Given the description of an element on the screen output the (x, y) to click on. 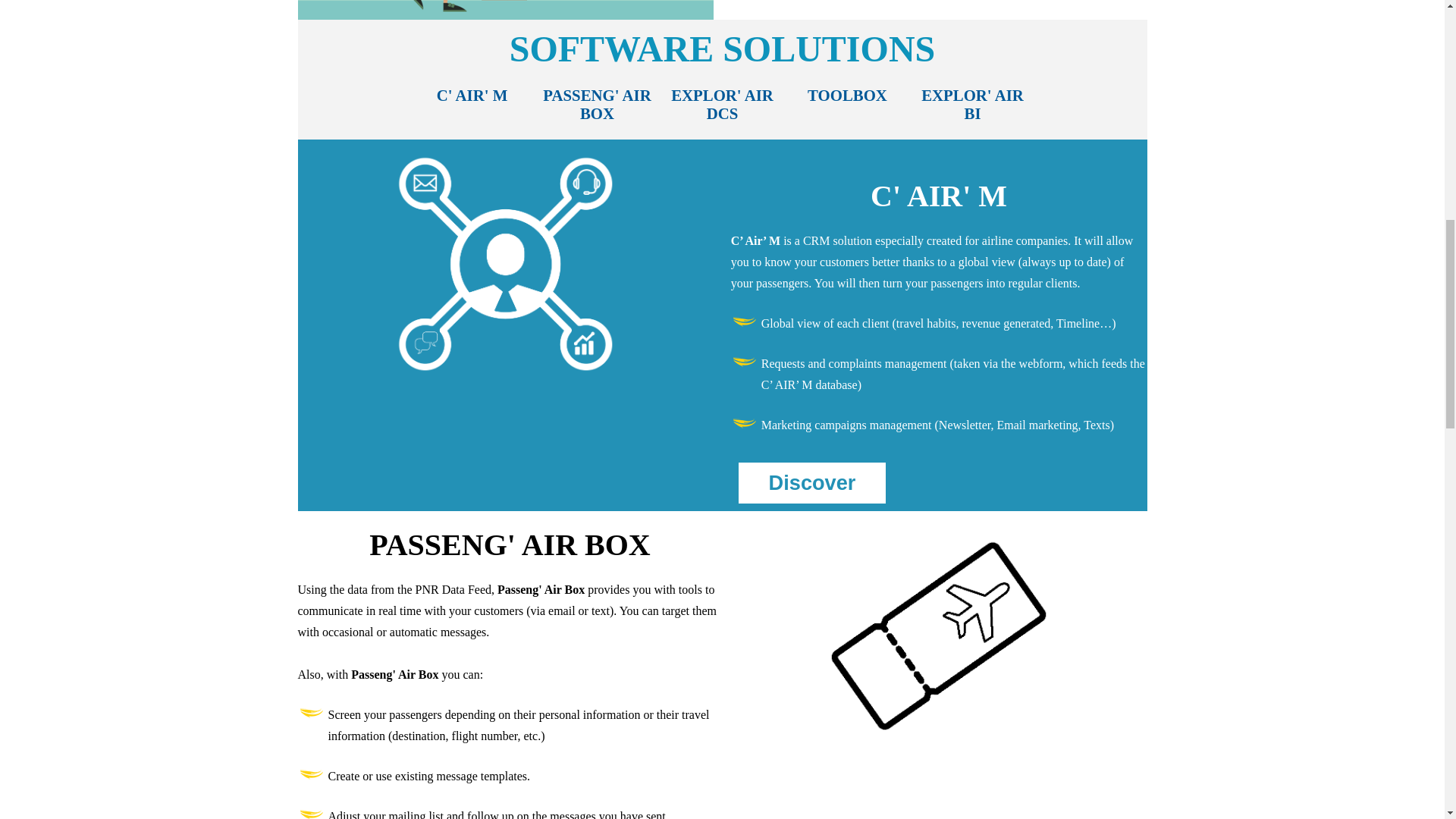
EXPLOR' AIR DCS (721, 108)
TOOLBOX (847, 108)
PASSENG' AIR BOX (596, 108)
C' AIR' M (471, 108)
